Given the description of an element on the screen output the (x, y) to click on. 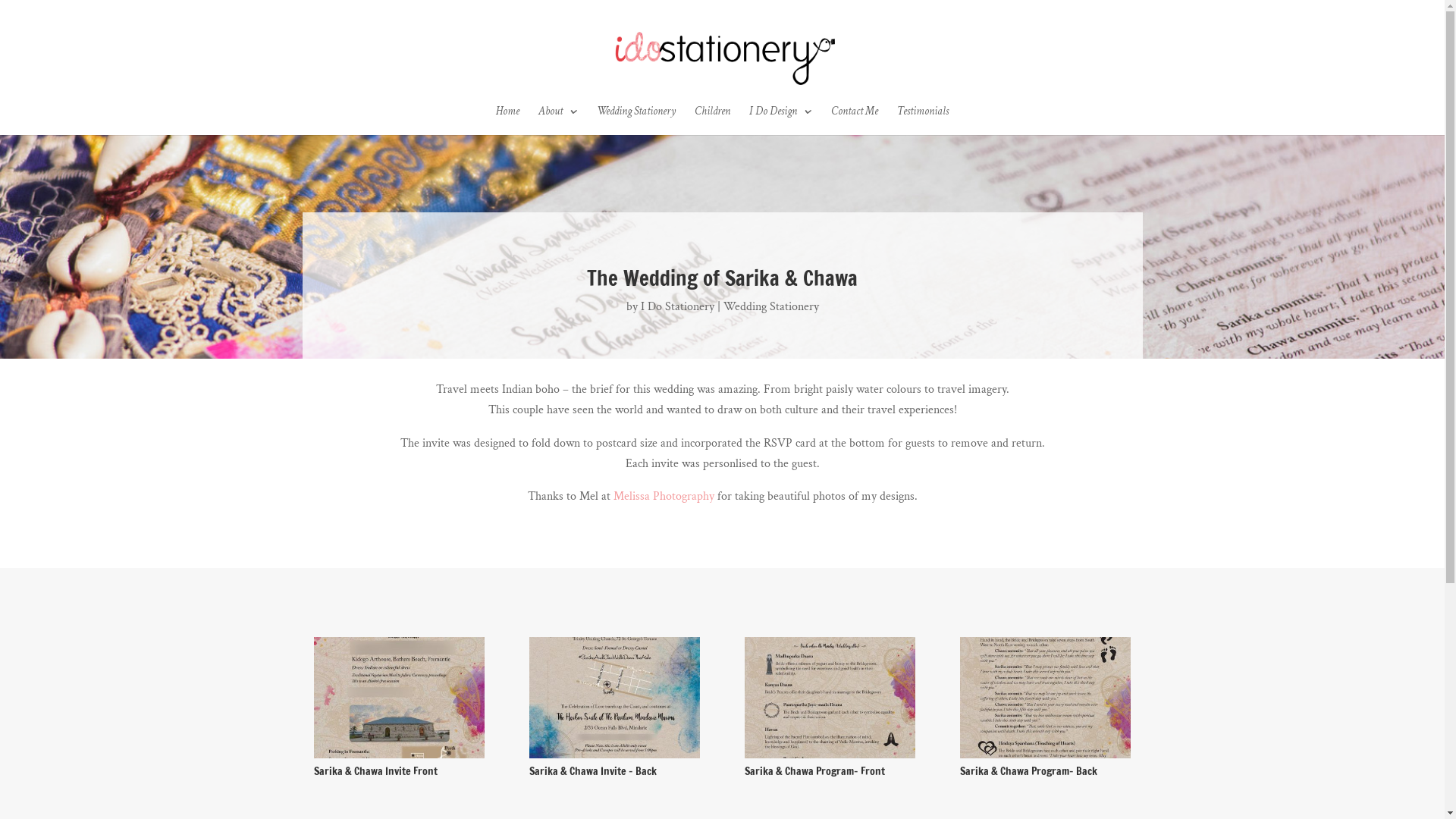
Home Element type: text (507, 120)
Wedding Stationery Element type: text (771, 306)
I Do Stationery Element type: text (676, 306)
Sarika & Chawa Invite - Back Element type: hover (614, 757)
Sarika & Chawa Program- Front Element type: hover (829, 757)
Children Element type: text (712, 120)
Wedding Stationery Element type: text (635, 120)
I Do Design Element type: text (780, 120)
Contact Me Element type: text (854, 120)
Sarika & Chawa Invite Front Element type: hover (398, 757)
Sarika & Chawa Program- Back Element type: hover (1045, 757)
Melissa Photography Element type: text (662, 496)
About Element type: text (557, 120)
Testimonials Element type: text (922, 120)
